Given the description of an element on the screen output the (x, y) to click on. 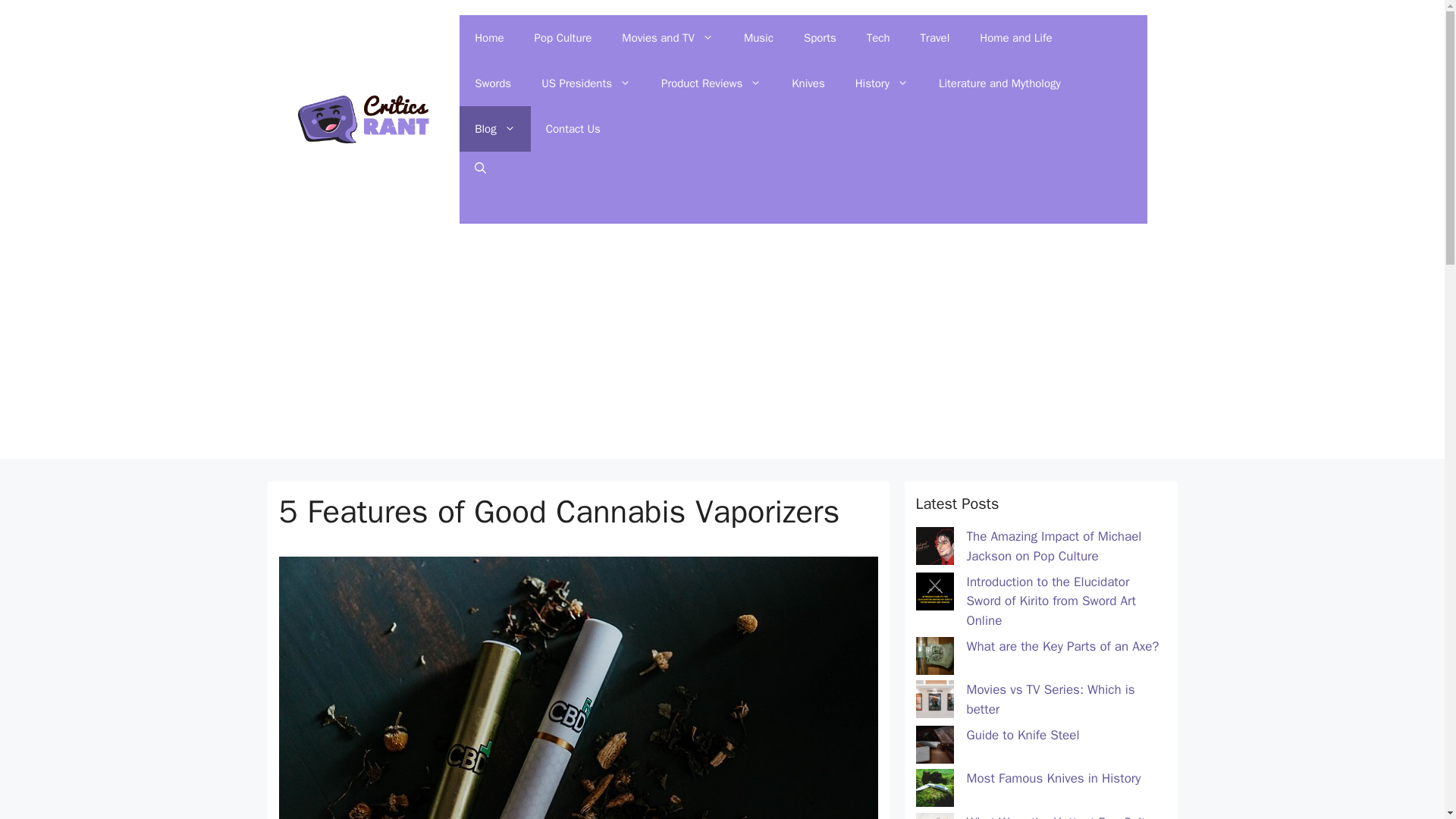
Home and Life (1015, 37)
Music (759, 37)
Sports (820, 37)
Tech (878, 37)
Pop Culture (563, 37)
Movies and TV (668, 37)
US Presidents (585, 83)
Travel (935, 37)
Swords (492, 83)
Home (489, 37)
